Given the description of an element on the screen output the (x, y) to click on. 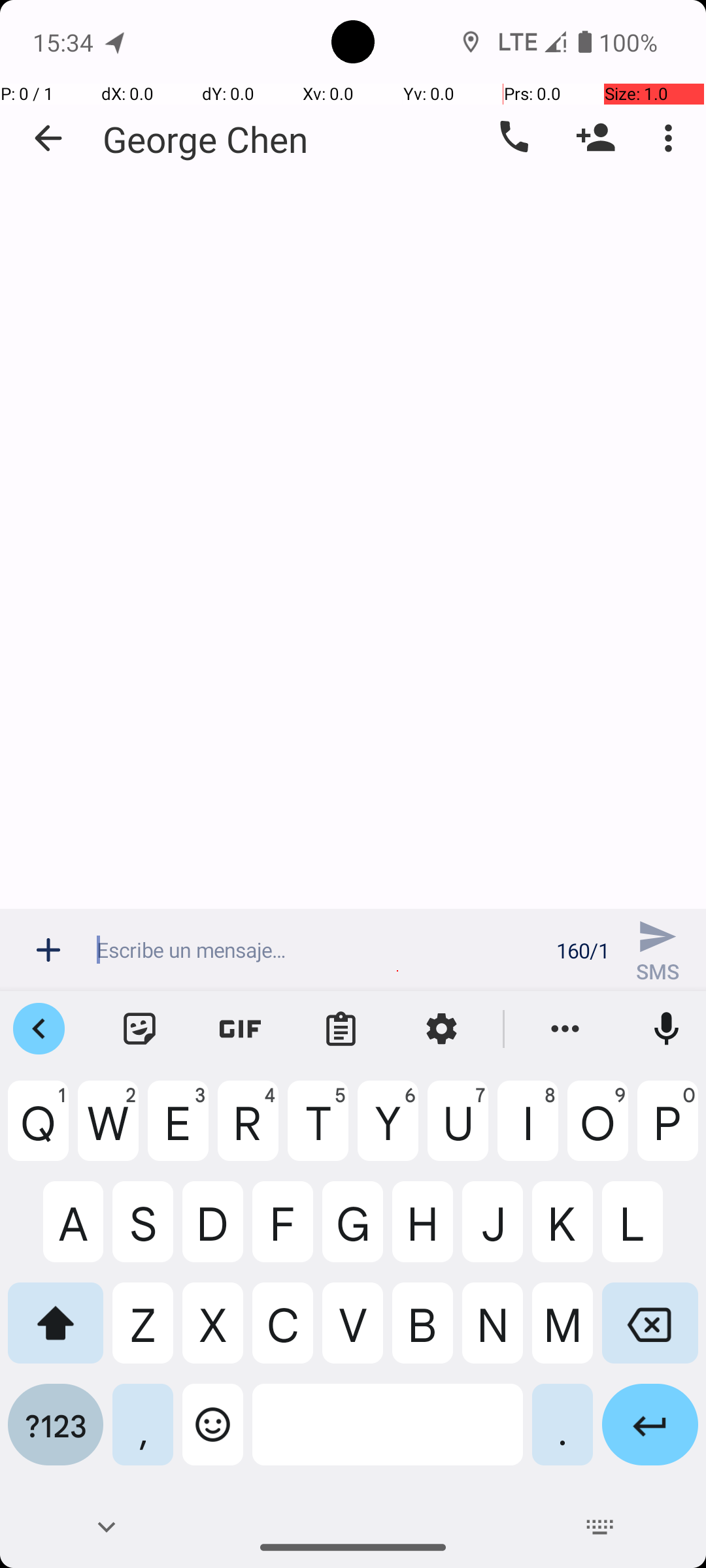
Atrás Element type: android.widget.ImageButton (48, 138)
George Chen Element type: android.widget.TextView (205, 138)
Marcar número Element type: android.widget.Button (512, 137)
Añadir persona Element type: android.widget.Button (595, 137)
Archivo adjunto Element type: android.widget.ImageView (48, 949)
Escribe un mensaje… Element type: android.widget.EditText (318, 949)
